Given the description of an element on the screen output the (x, y) to click on. 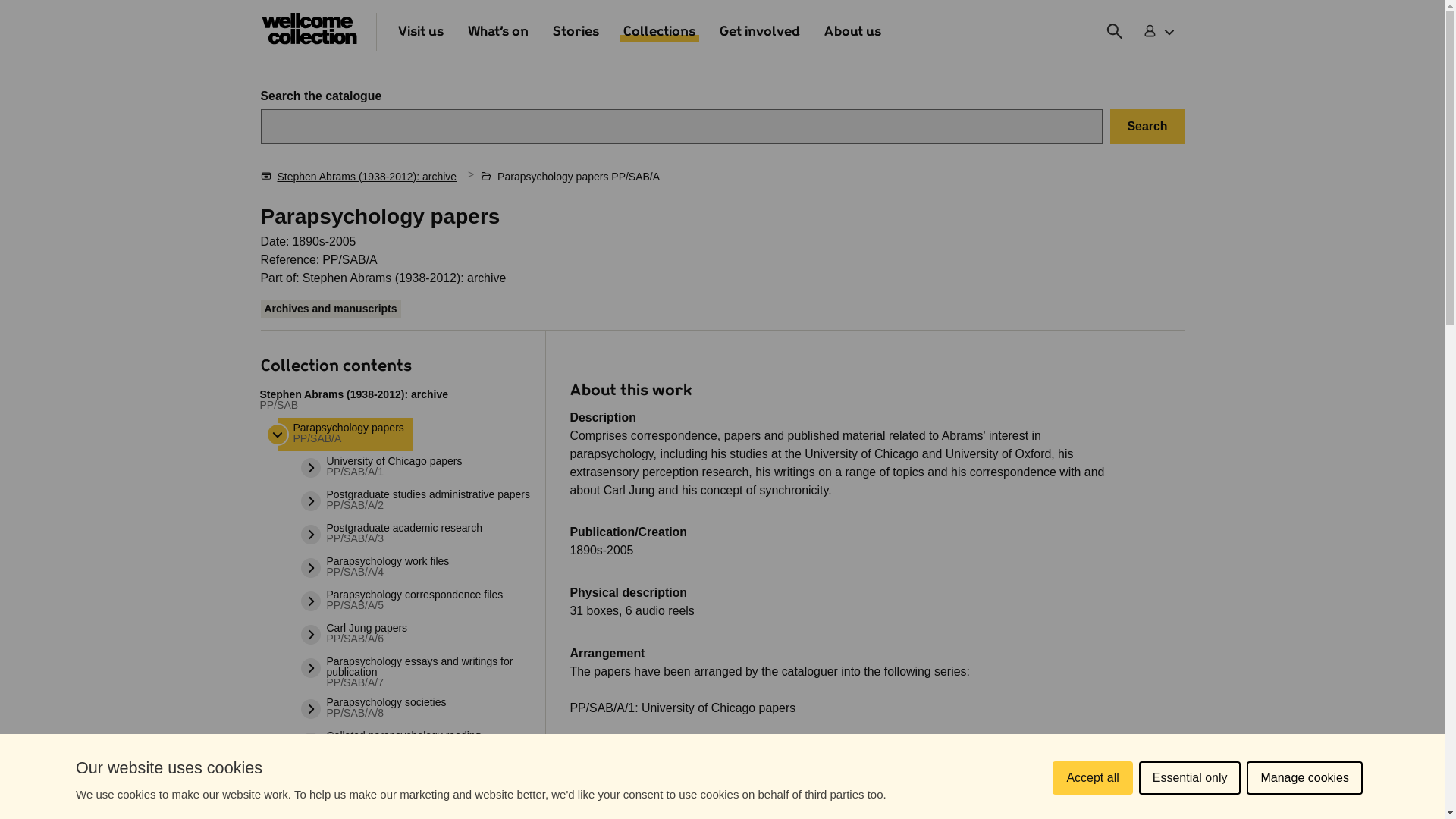
Wellcome Collection homepage (309, 31)
About us (853, 31)
Visit us (420, 31)
Stories (575, 31)
Wellcome Collection homepage (309, 29)
Search (1146, 126)
Get involved (759, 31)
Collections (659, 31)
